Given the description of an element on the screen output the (x, y) to click on. 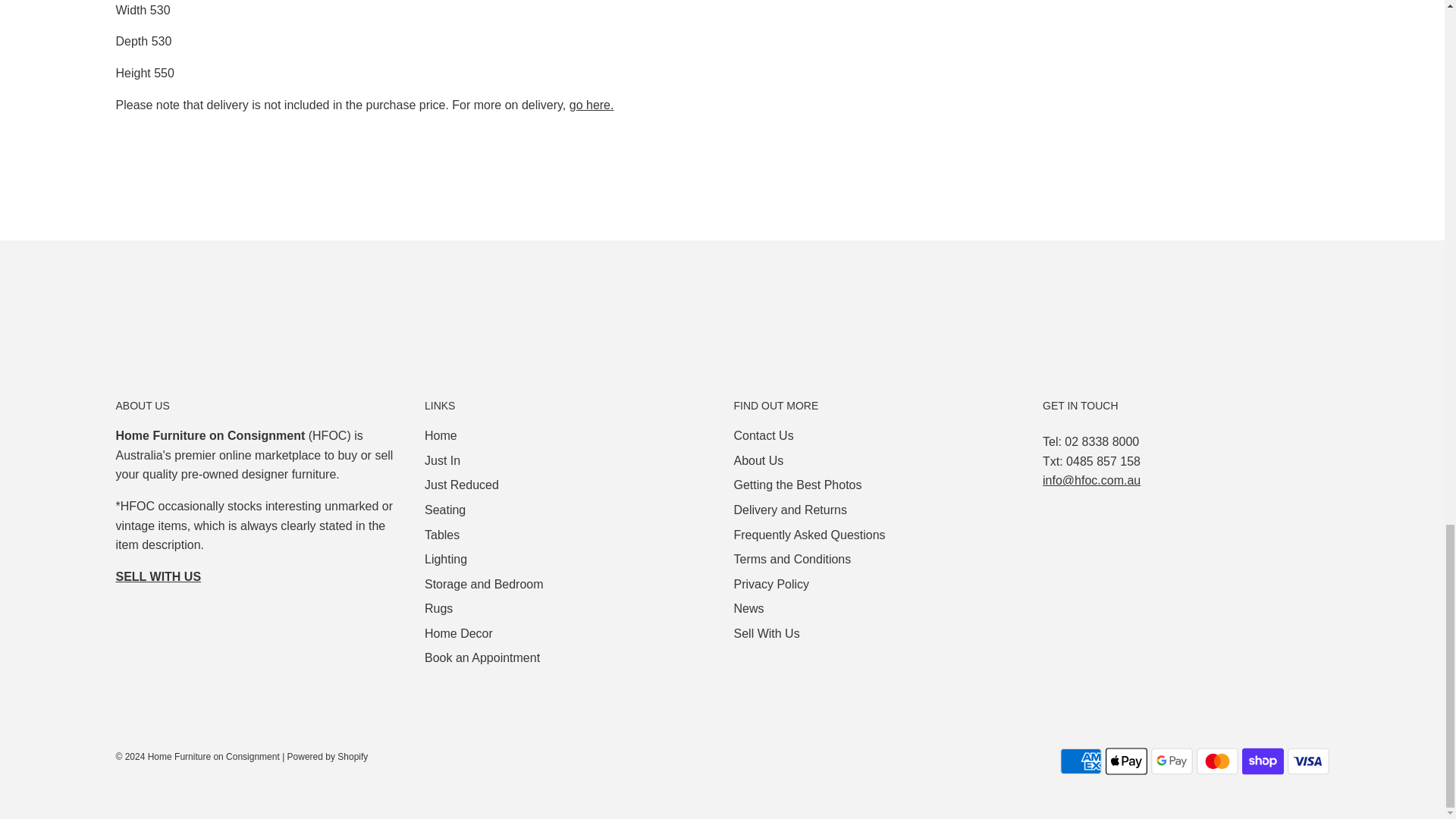
Google Pay (1171, 761)
Sell With Us (157, 576)
Visa (1308, 761)
Mastercard (1217, 761)
Shop Pay (1262, 761)
Apple Pay (1126, 761)
American Express (1080, 761)
